Given the description of an element on the screen output the (x, y) to click on. 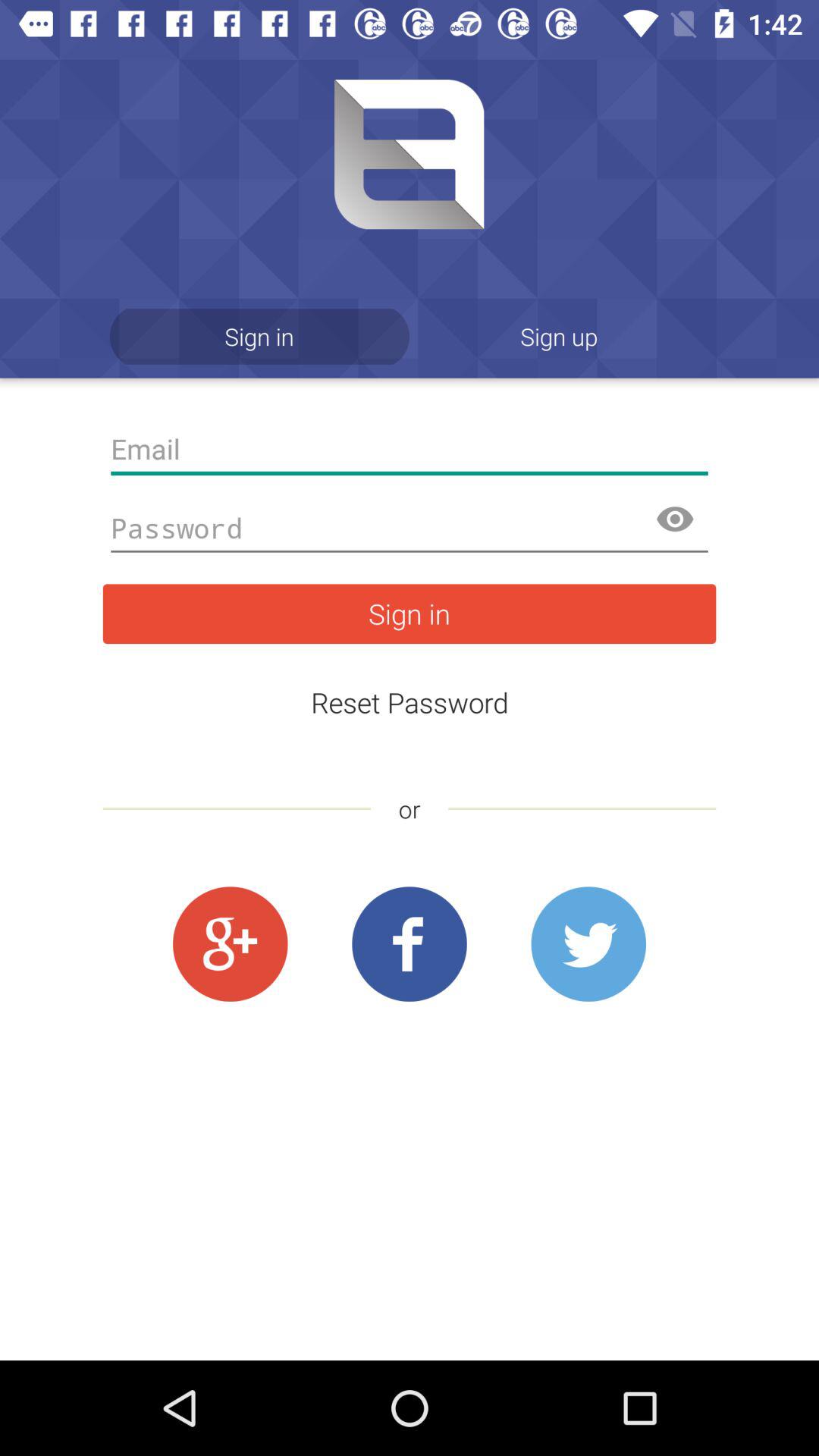
tap icon below sign in icon (409, 702)
